Given the description of an element on the screen output the (x, y) to click on. 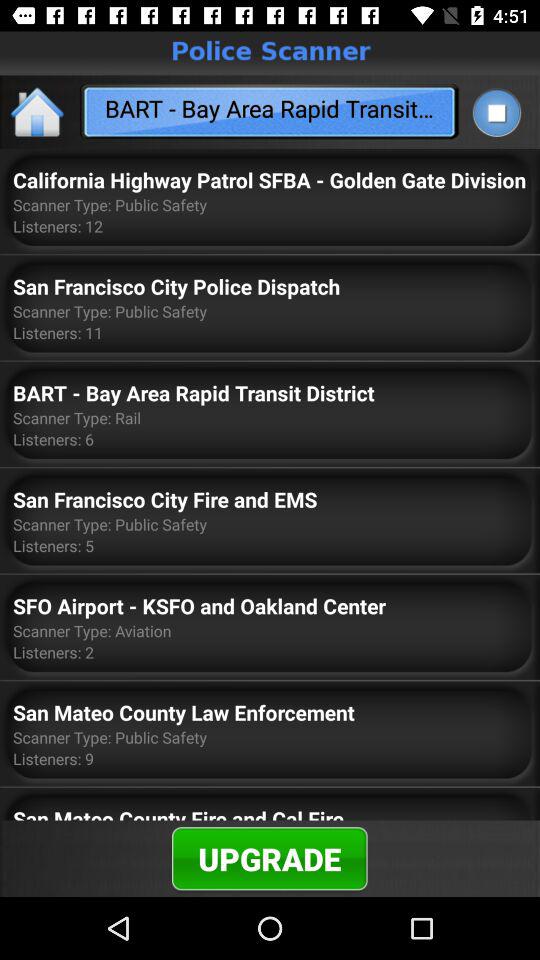
turn on app to the left of bart bay area item (38, 111)
